Given the description of an element on the screen output the (x, y) to click on. 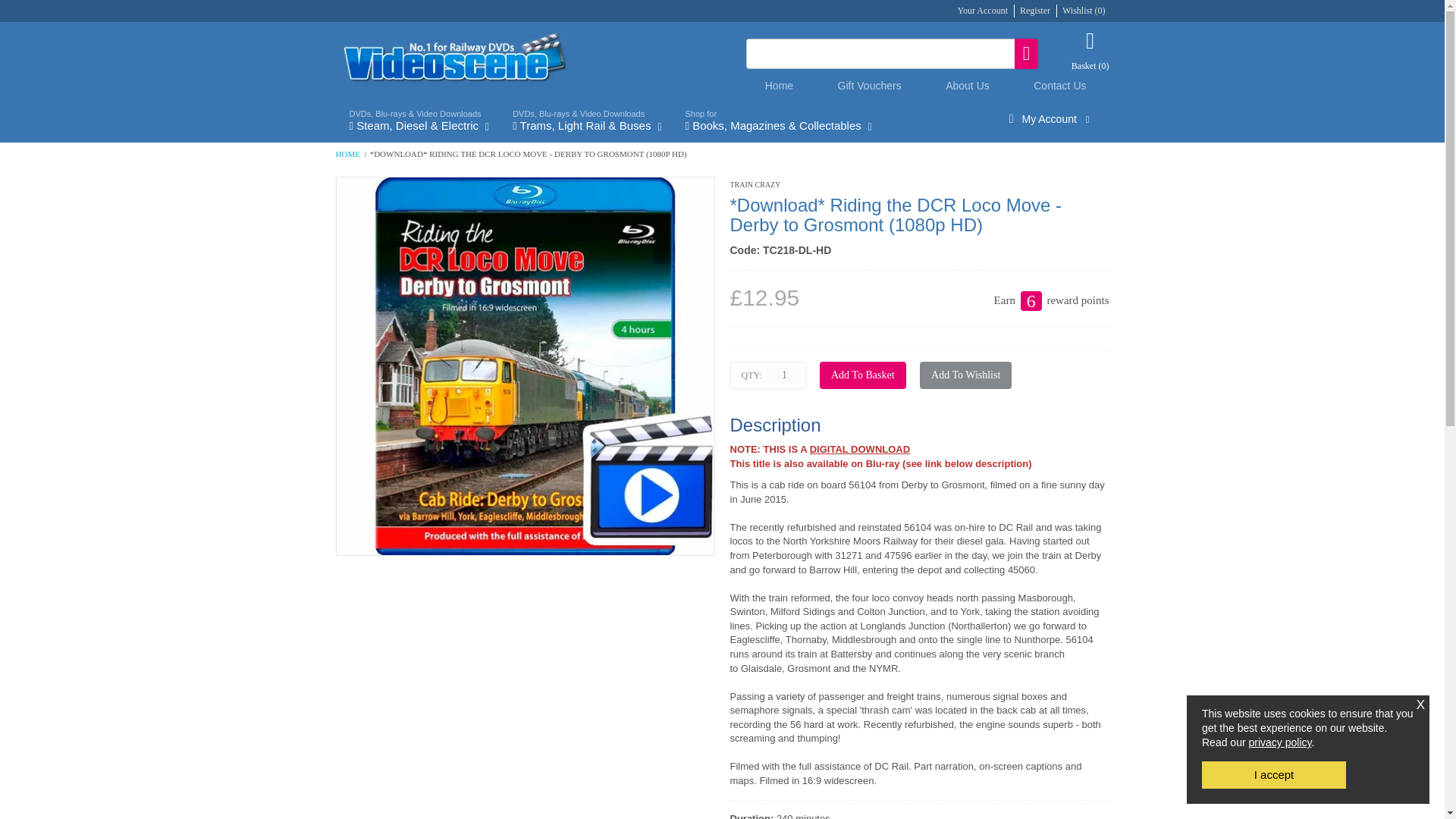
About Us (967, 85)
Home (779, 85)
Contact Us (1059, 85)
Gift Vouchers (869, 85)
Register (1034, 9)
1 (784, 375)
Your Account (982, 9)
